Given the description of an element on the screen output the (x, y) to click on. 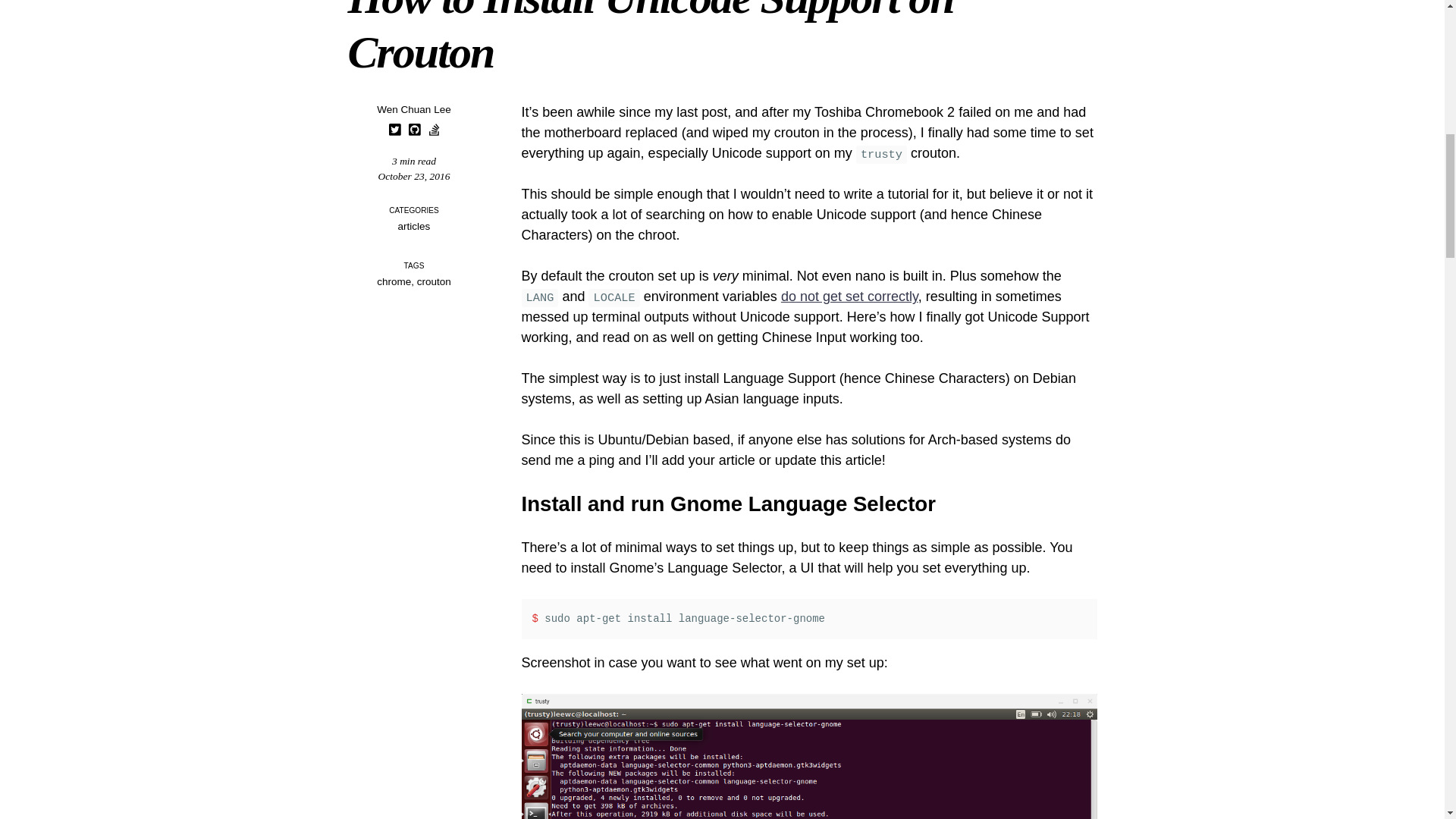
October 23, 2016 (413, 175)
do not get set correctly (849, 296)
Pages tagged chrome (393, 281)
Pages tagged crouton (433, 281)
GitHub (414, 129)
Twitter (394, 129)
crouton (433, 281)
chrome (393, 281)
